Given the description of an element on the screen output the (x, y) to click on. 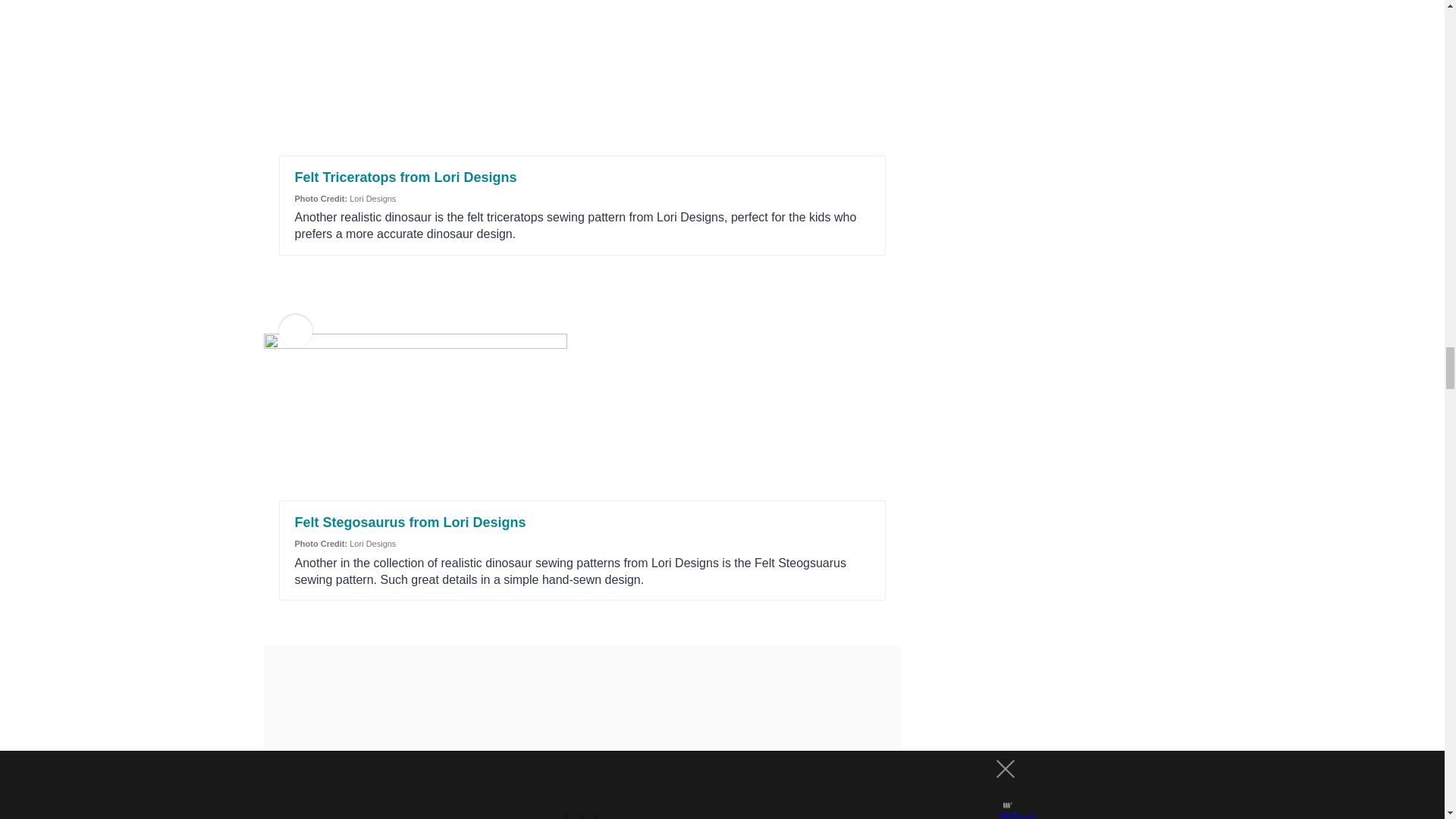
Felt Triceratops from Lori Designs (405, 177)
Felt Stegosaurus from Lori Designs (409, 522)
